Given the description of an element on the screen output the (x, y) to click on. 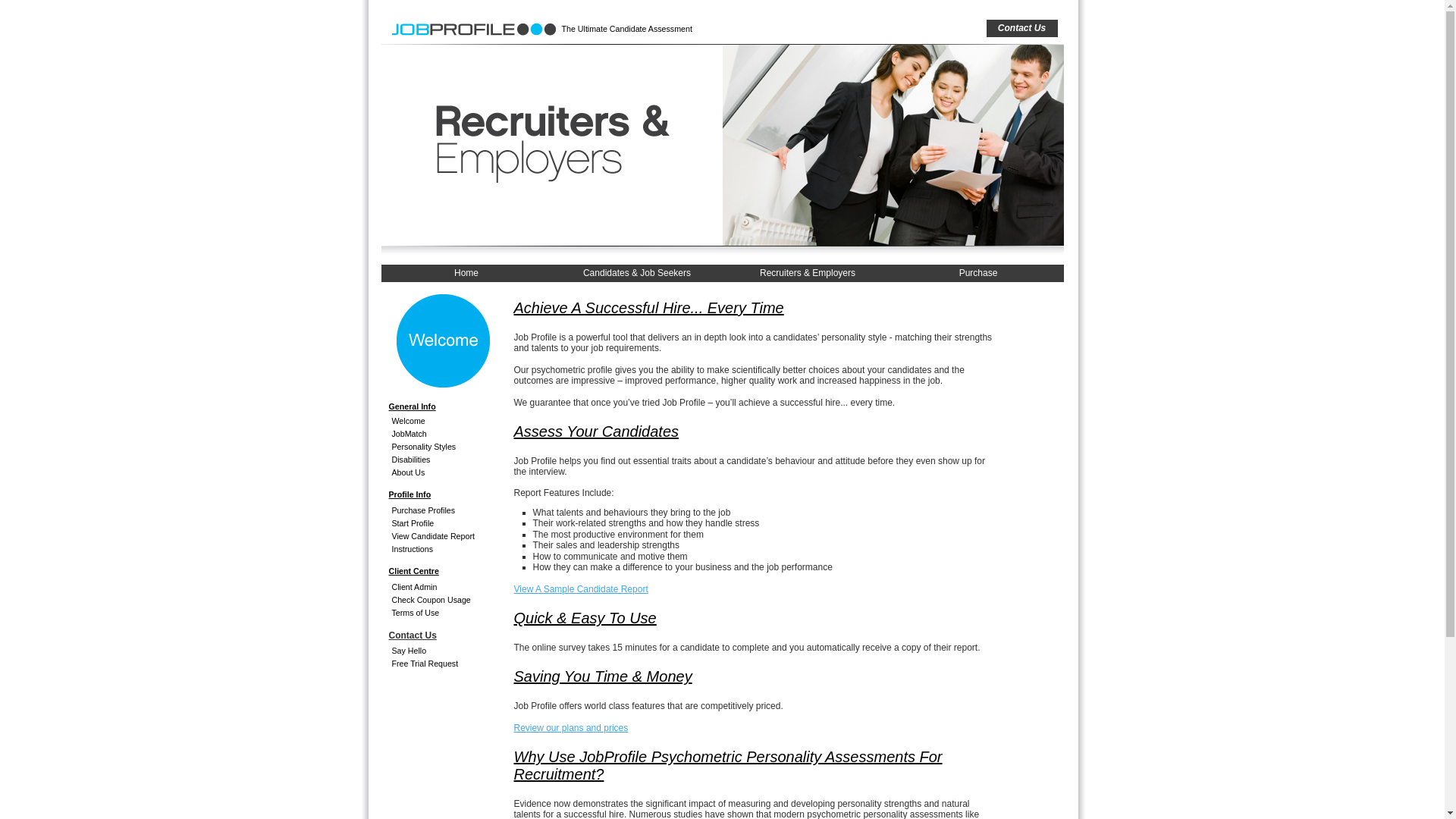
Client Admin Element type: text (430, 586)
Say Hello Element type: text (430, 650)
Candidates & Job Seekers Element type: text (637, 273)
Disabilities Element type: text (430, 459)
View A Sample Candidate Report Element type: text (581, 588)
Review our plans and prices Element type: text (571, 727)
Home Element type: text (465, 273)
About Us Element type: text (430, 472)
Purchase Element type: text (978, 273)
View Candidate Report Element type: text (430, 536)
Check Coupon Usage Element type: text (430, 599)
Personality Styles Element type: text (430, 446)
JobMatch Element type: text (430, 433)
Start Profile Element type: text (430, 523)
Free Trial Request Element type: text (430, 663)
Instructions Element type: text (430, 548)
Contact Us Element type: text (1021, 28)
Recruiters & Employers Element type: text (806, 273)
Welcome Element type: text (430, 420)
Terms of Use Element type: text (430, 612)
Purchase Profiles Element type: text (430, 510)
